Given the description of an element on the screen output the (x, y) to click on. 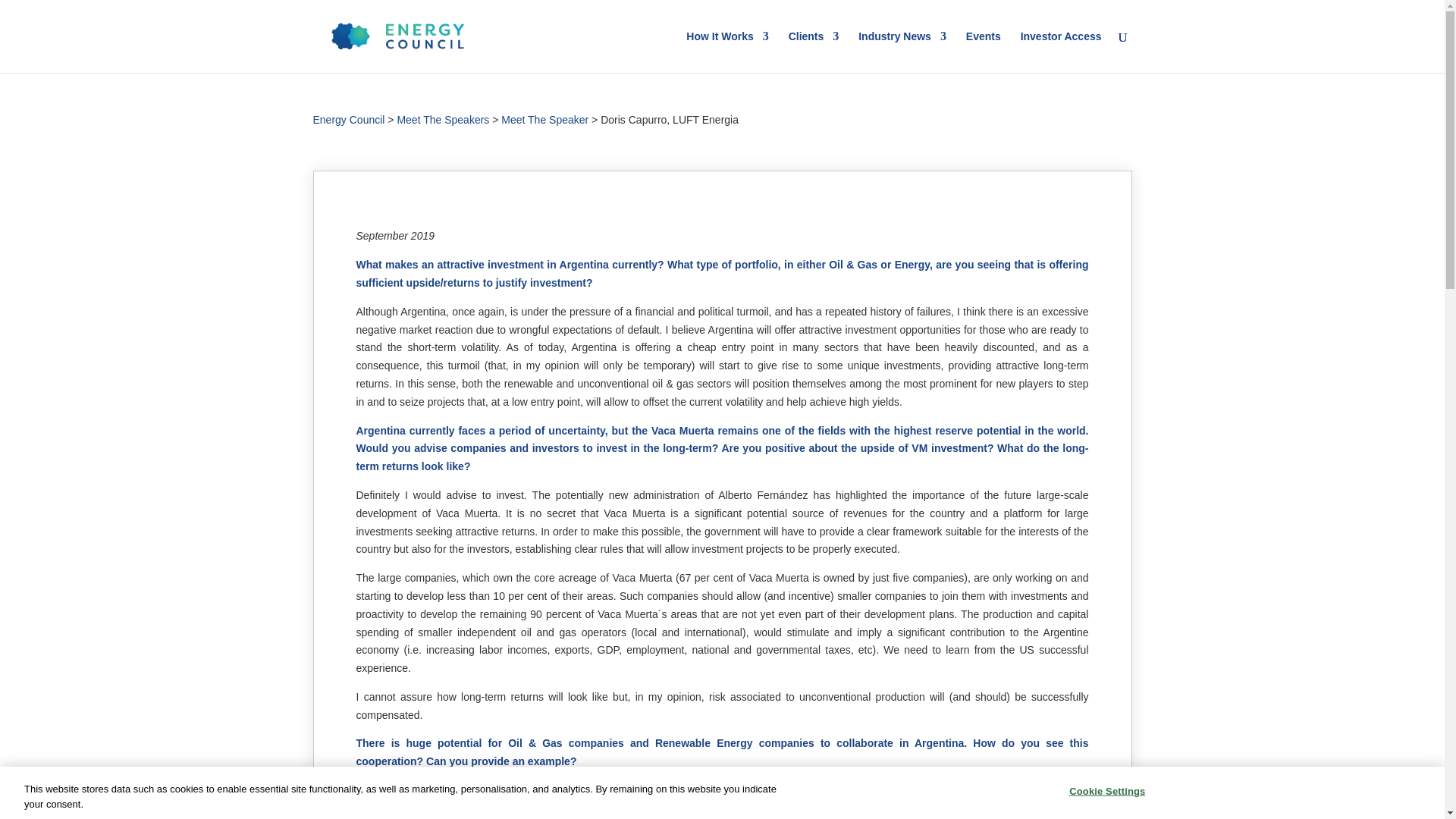
Industry News (902, 51)
Investor Access (1061, 51)
Go to Energy Council. (348, 119)
Energy Council (348, 119)
Clients (814, 51)
Go to Meet The Speakers. (442, 128)
How It Works (726, 51)
